Given the description of an element on the screen output the (x, y) to click on. 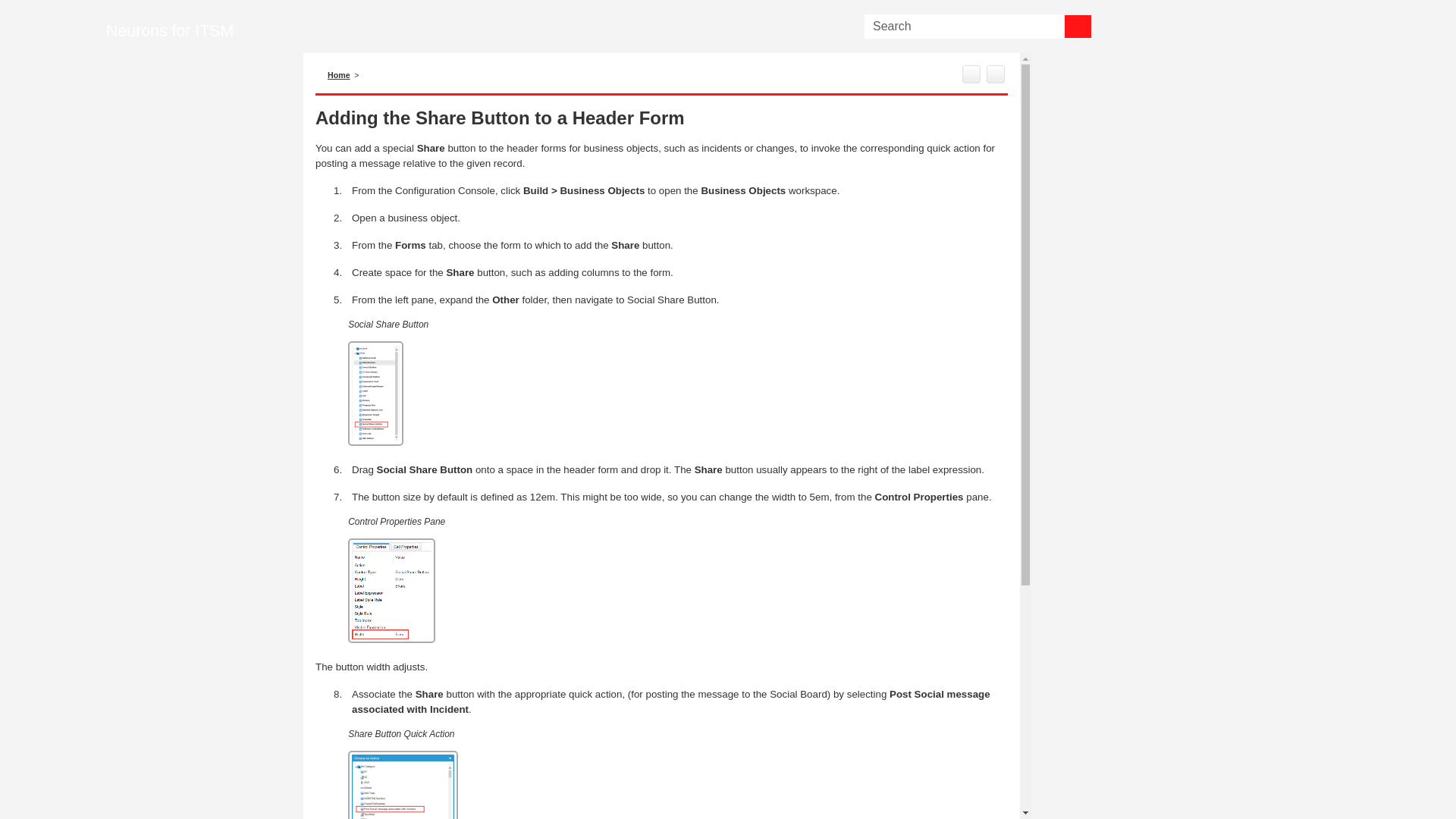
Expand all (995, 74)
Home (338, 74)
Search (1078, 26)
Print (970, 74)
